Given the description of an element on the screen output the (x, y) to click on. 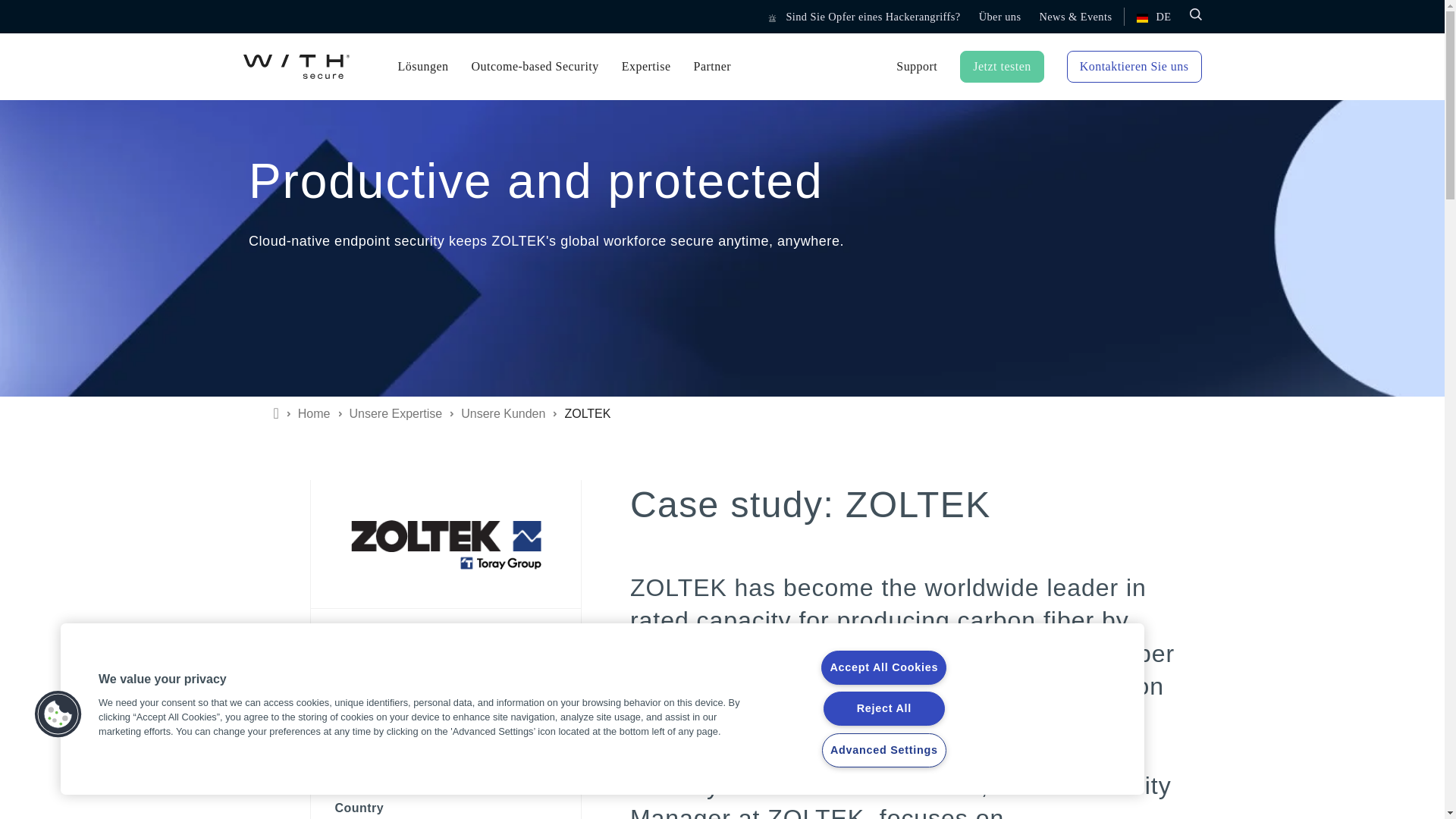
Cookies Button (57, 714)
